Given the description of an element on the screen output the (x, y) to click on. 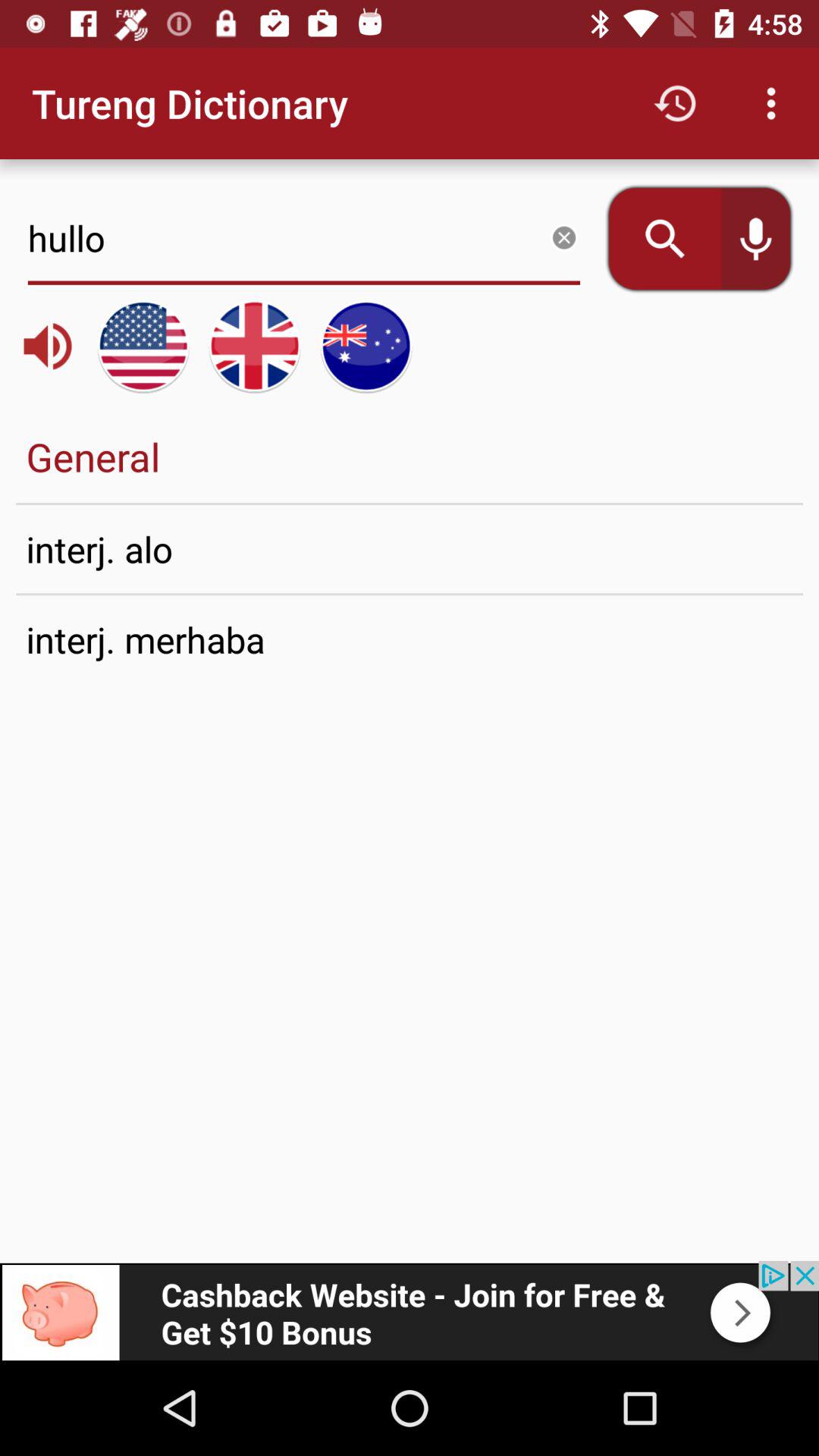
know about cash back website (409, 1310)
